Given the description of an element on the screen output the (x, y) to click on. 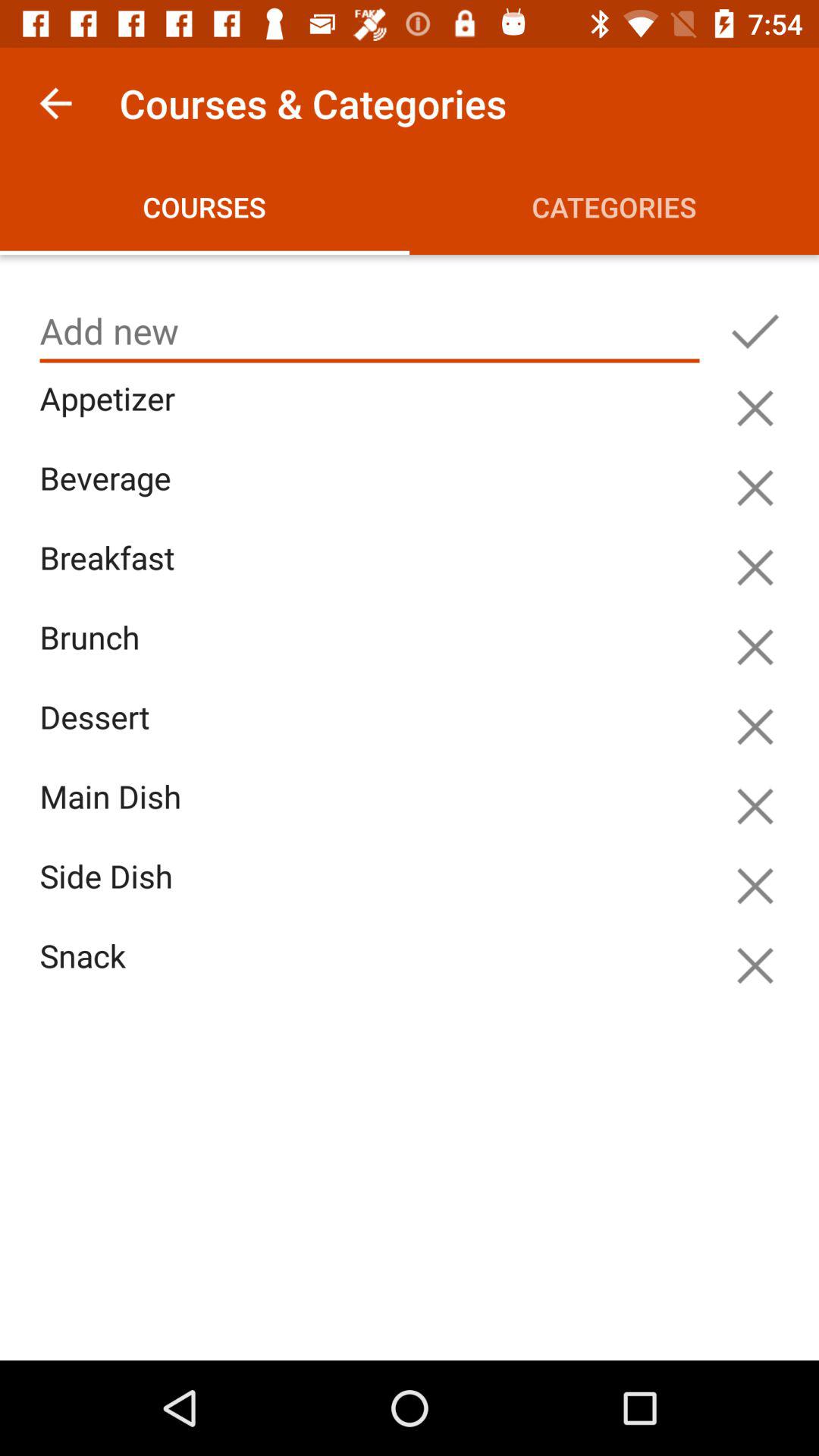
swipe to the side dish (373, 893)
